Given the description of an element on the screen output the (x, y) to click on. 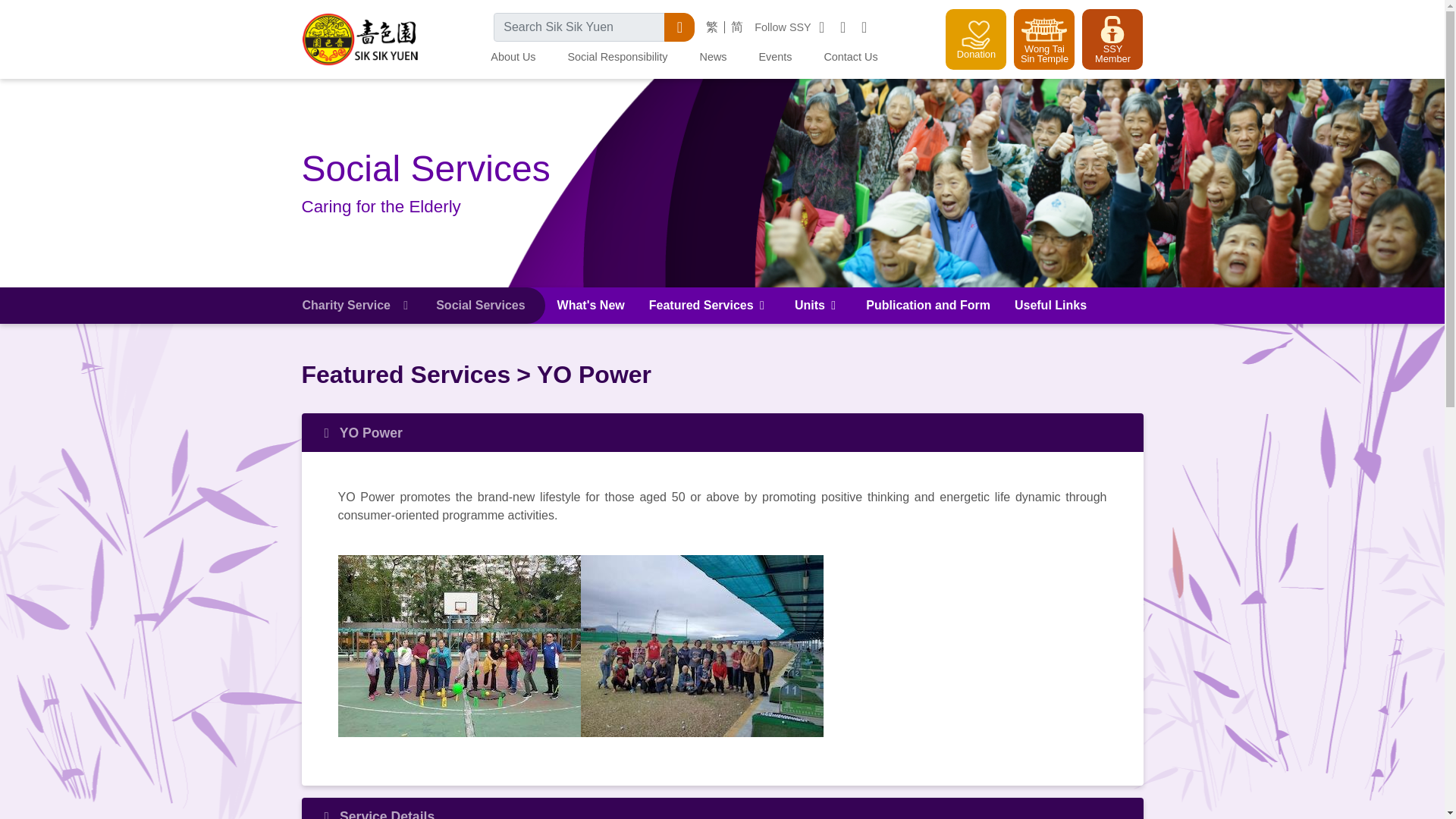
Events (774, 57)
Contact Us (849, 57)
Units (818, 305)
Featured Services (710, 305)
What's New (590, 305)
About Us (512, 57)
News (712, 57)
SSY Member (1111, 39)
Sik Sik Yuen Main Pge (361, 37)
Charity Service  Social Services (413, 305)
Social Responsibility (617, 57)
Wong Tai Sin Temple (1043, 39)
Donation (975, 39)
